Given the description of an element on the screen output the (x, y) to click on. 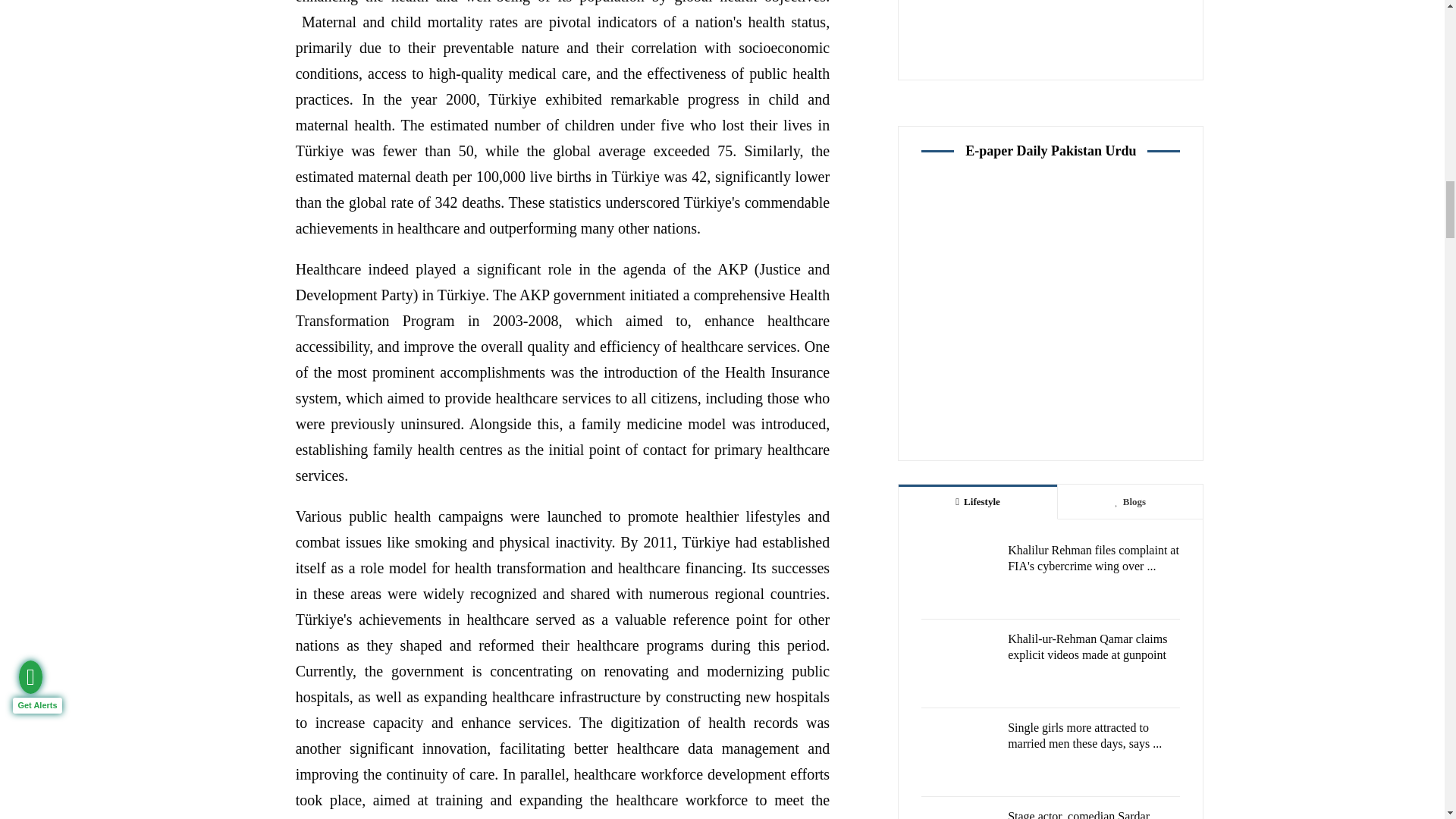
E-paper Daily Pakistan Urdu (1050, 312)
